Given the description of an element on the screen output the (x, y) to click on. 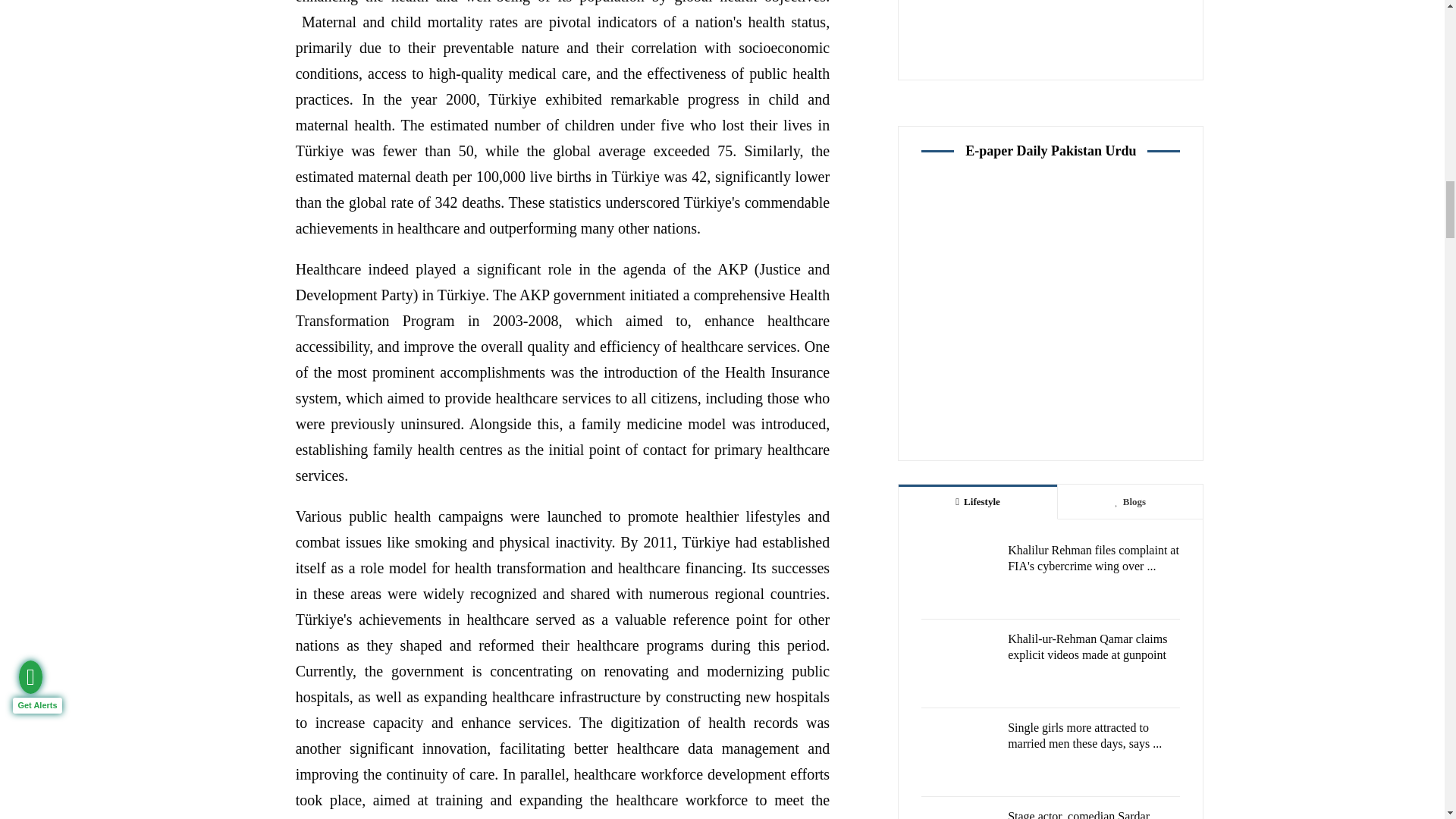
E-paper Daily Pakistan Urdu (1050, 312)
